Given the description of an element on the screen output the (x, y) to click on. 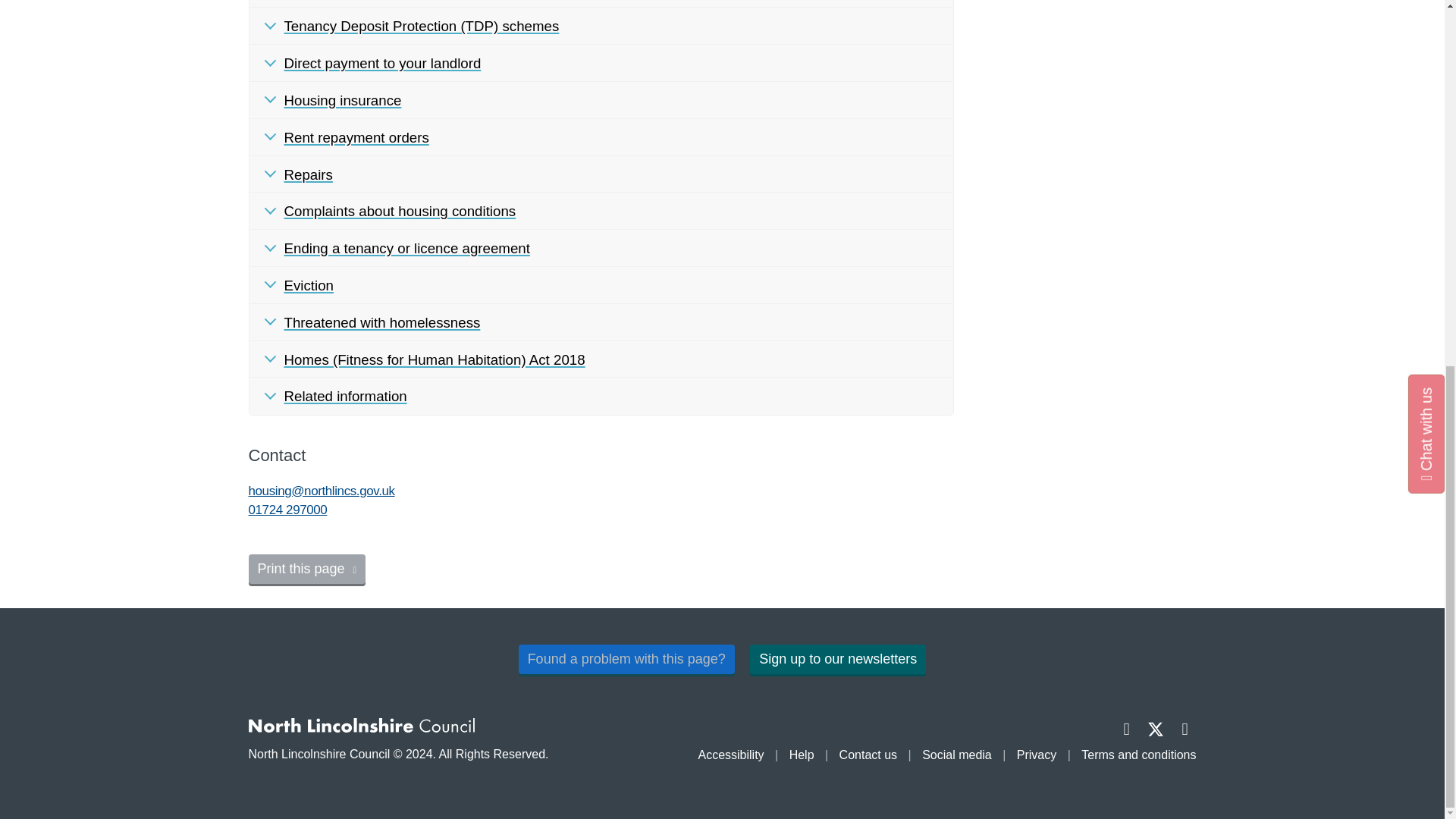
Direct payment to your landlord (600, 63)
Housing insurance (600, 99)
Tenancy agreement (600, 4)
Rent repayment orders (600, 137)
